Given the description of an element on the screen output the (x, y) to click on. 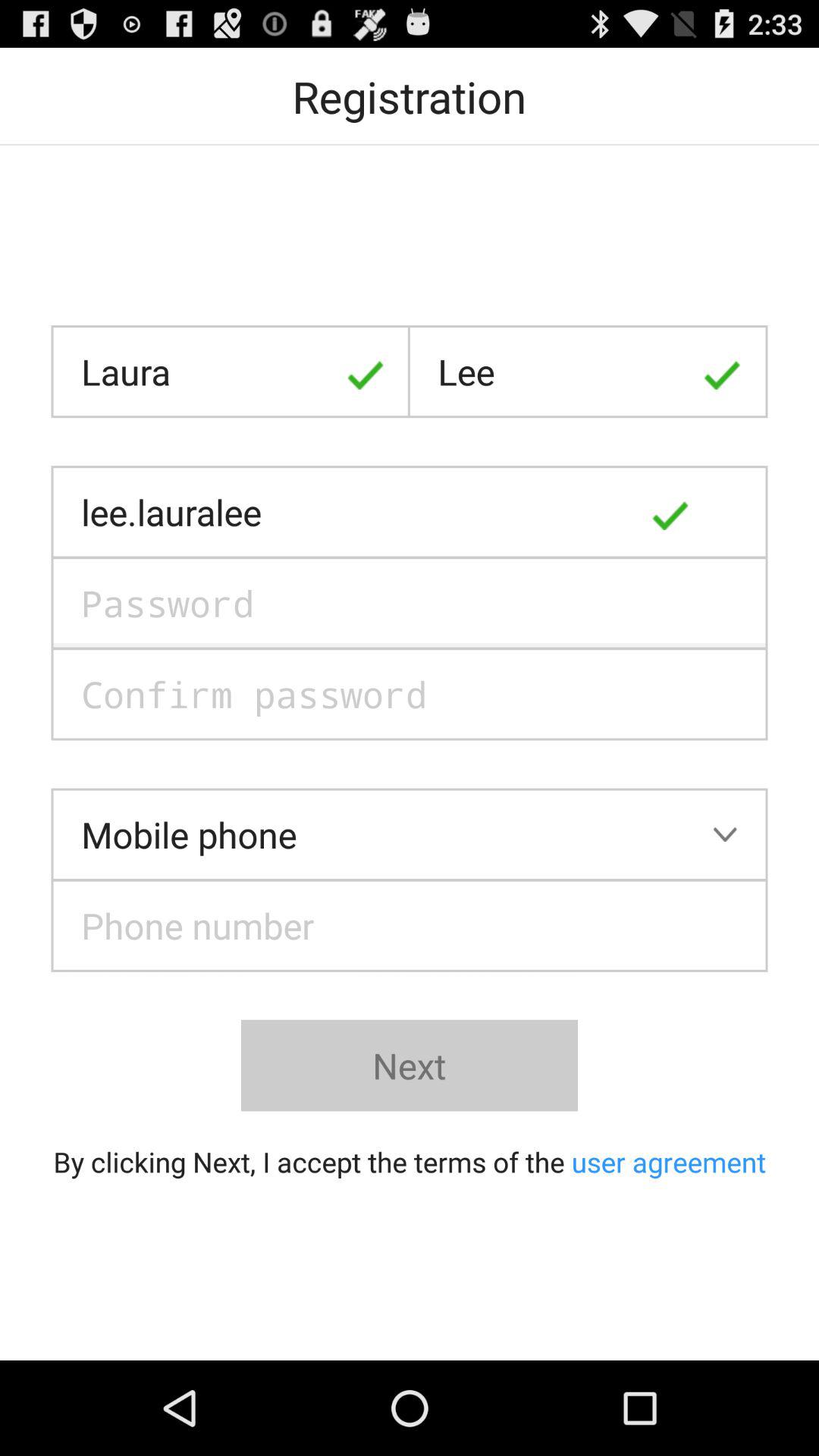
swipe to mobile phone icon (409, 834)
